Given the description of an element on the screen output the (x, y) to click on. 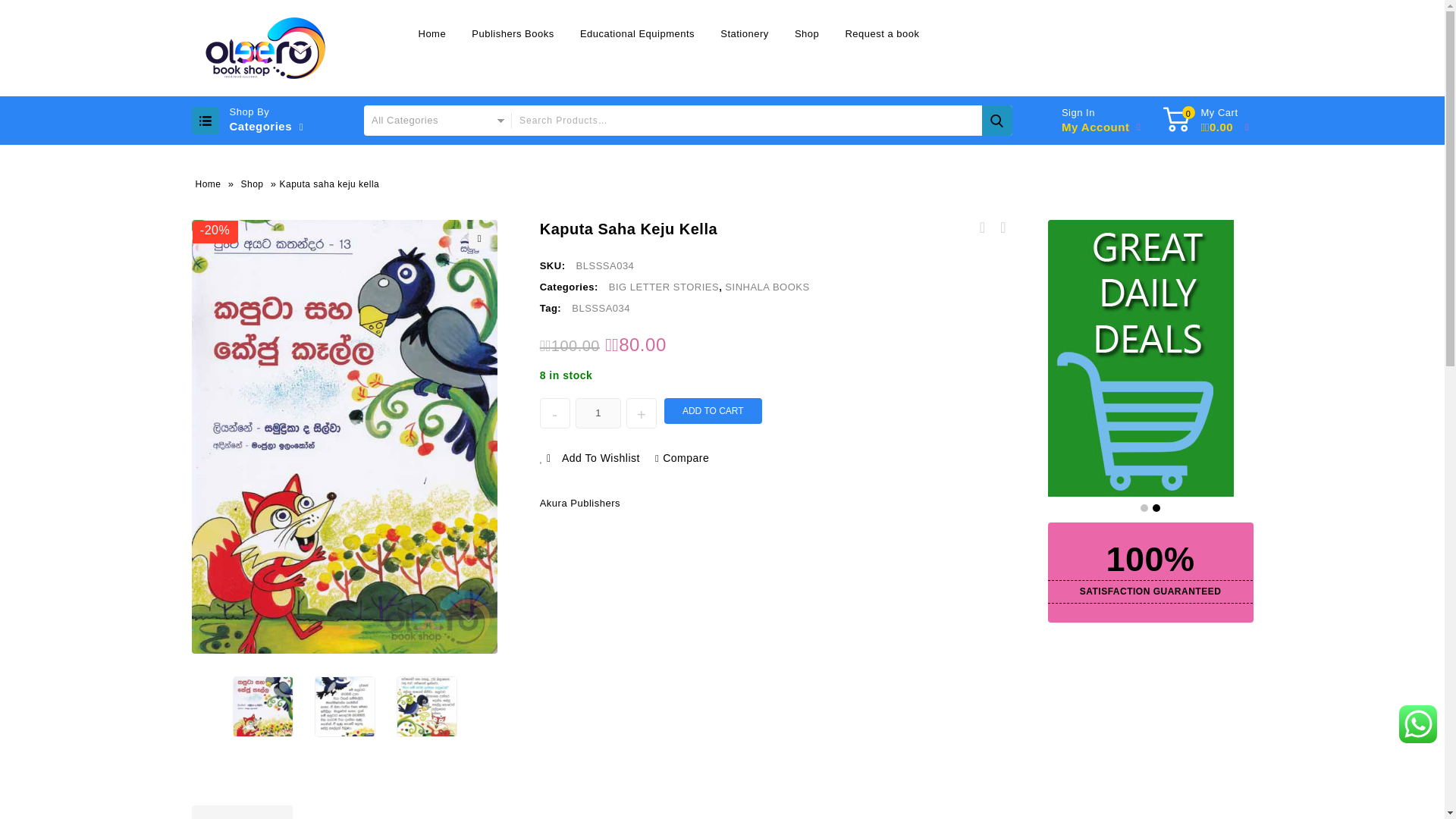
Search for: (761, 120)
- (555, 413)
1 (598, 413)
Home (431, 33)
Publishers Books (512, 33)
View brand (580, 503)
Stationery (744, 33)
View your shopping cart (1220, 120)
Request a book (881, 33)
Oleero Books (266, 47)
Search (996, 120)
Shop (806, 33)
Qty (598, 413)
Educational Equipments (637, 33)
